Given the description of an element on the screen output the (x, y) to click on. 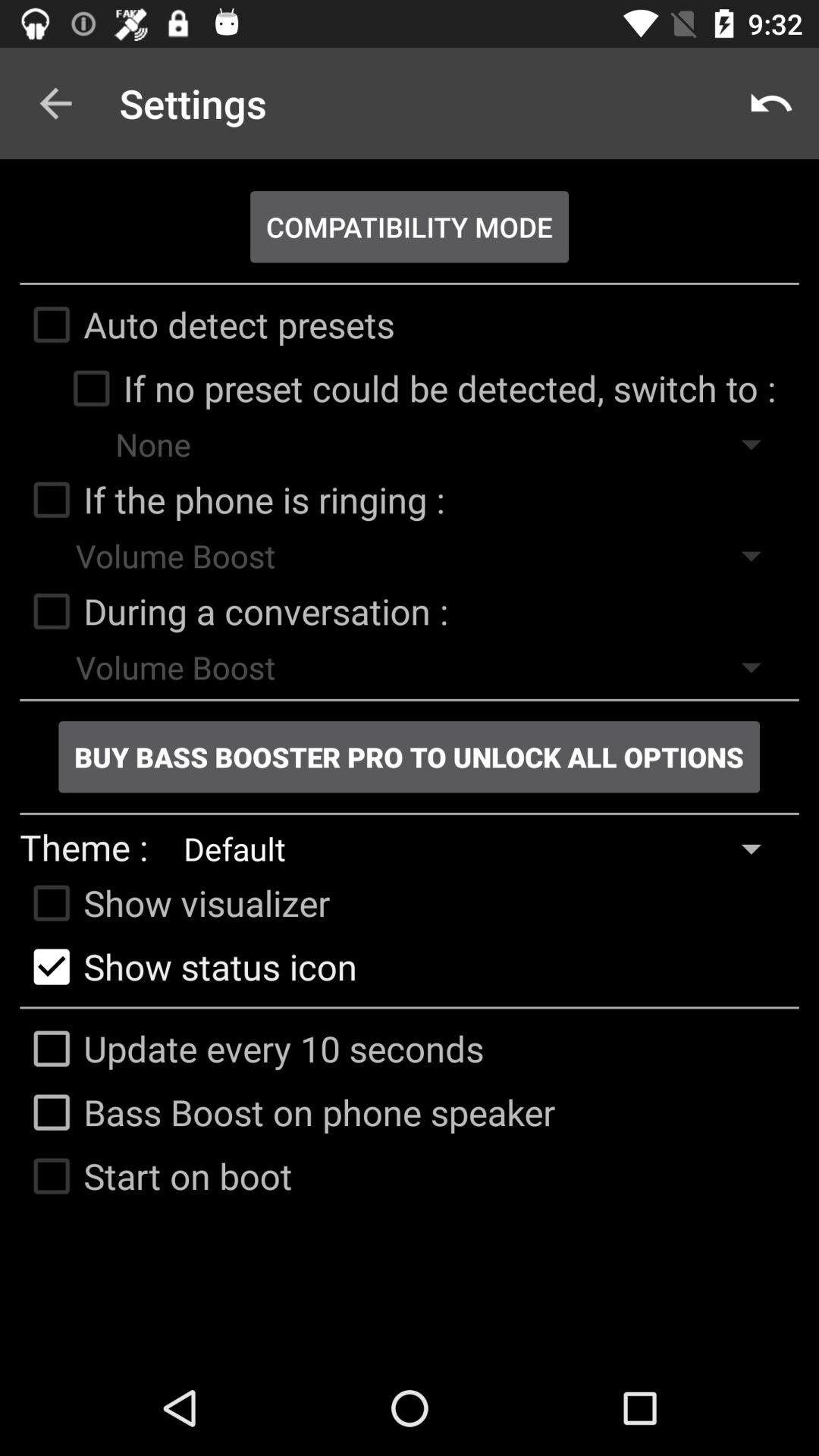
open icon below the update every 10 icon (287, 1112)
